Given the description of an element on the screen output the (x, y) to click on. 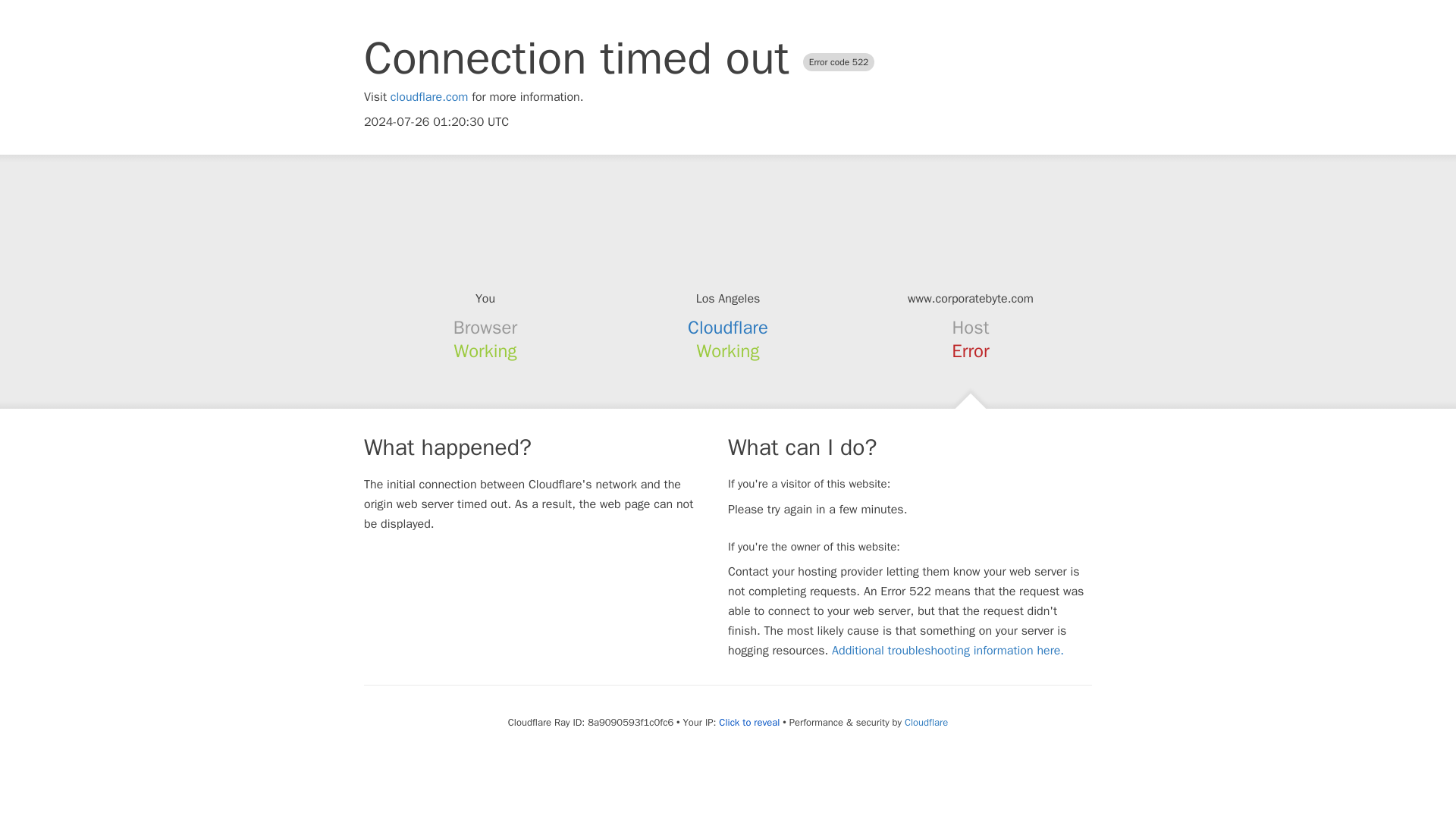
Cloudflare (727, 327)
cloudflare.com (429, 96)
Click to reveal (748, 722)
Additional troubleshooting information here. (947, 650)
Cloudflare (925, 721)
